Given the description of an element on the screen output the (x, y) to click on. 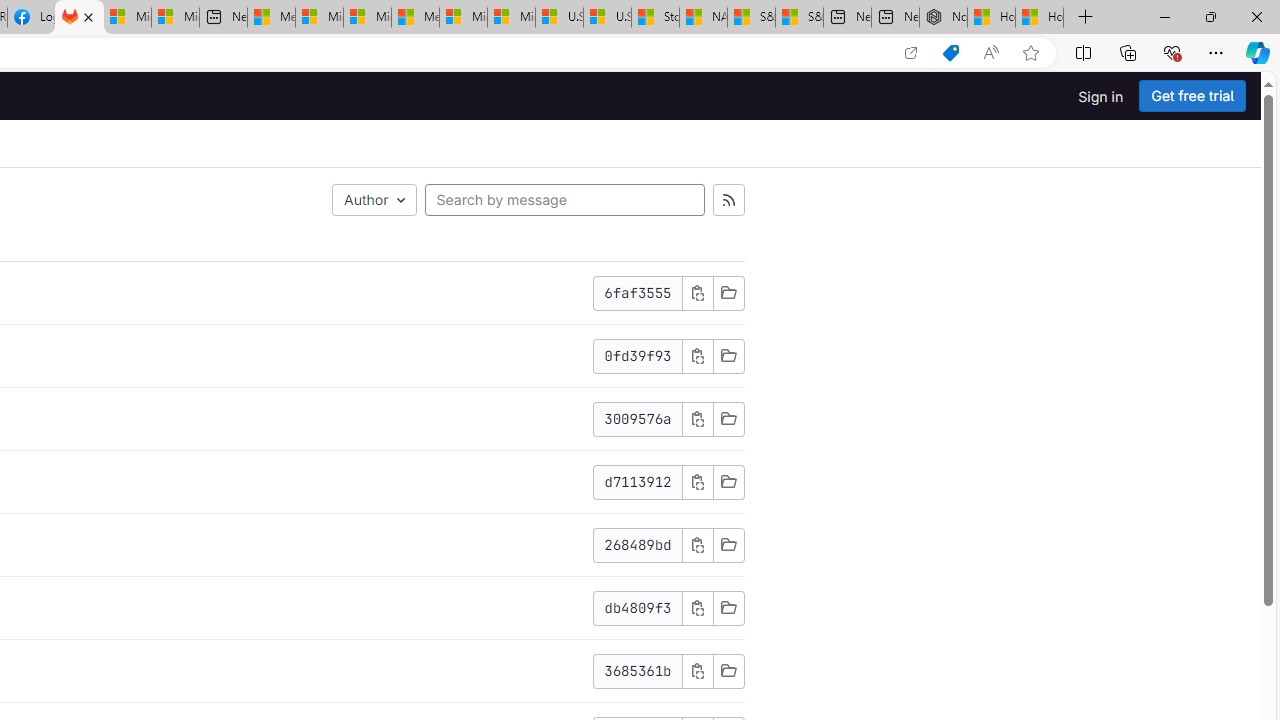
Author (374, 200)
Shopping in Microsoft Edge (950, 53)
Open in app (910, 53)
Copy commit SHA (697, 671)
